Given the description of an element on the screen output the (x, y) to click on. 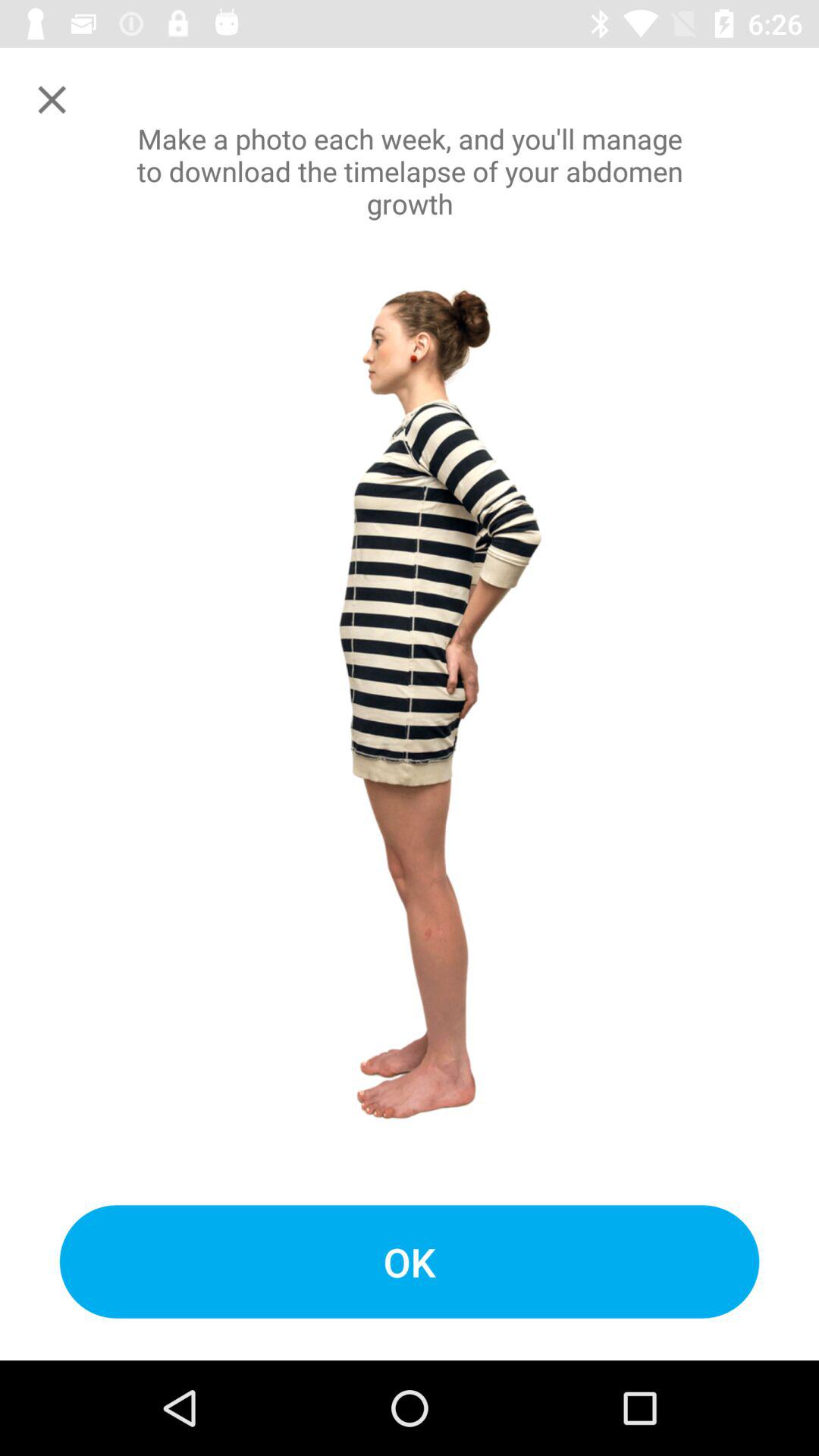
close window (51, 99)
